Given the description of an element on the screen output the (x, y) to click on. 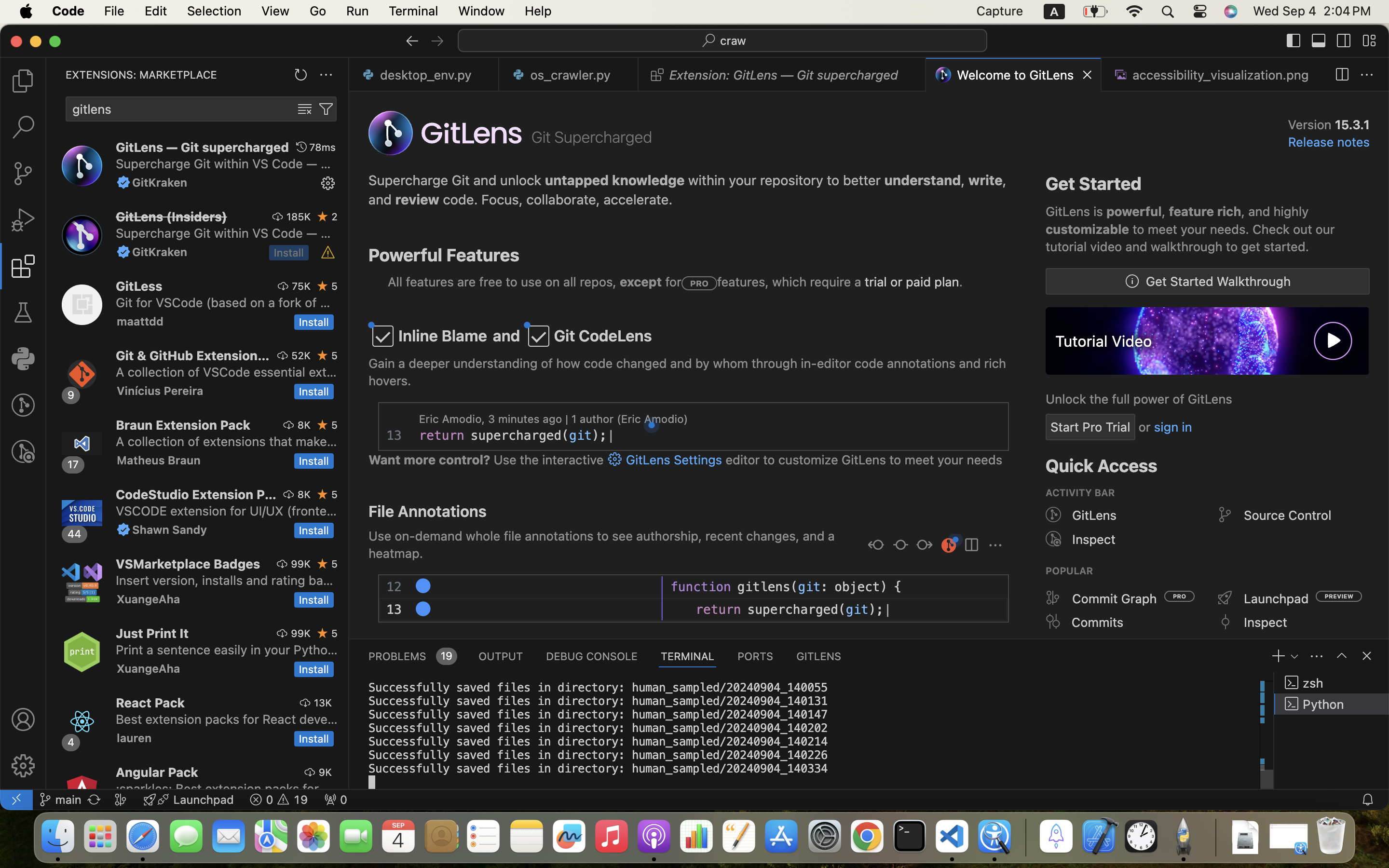
Commits Element type: AXStaticText (1097, 621)
Version Element type: AXStaticText (1310, 124)
POPULAR Element type: AXStaticText (1069, 570)
 Element type: AXStaticText (1053, 538)
VSCODE extension for UI/UX (frontend) development Element type: AXStaticText (226, 510)
